Given the description of an element on the screen output the (x, y) to click on. 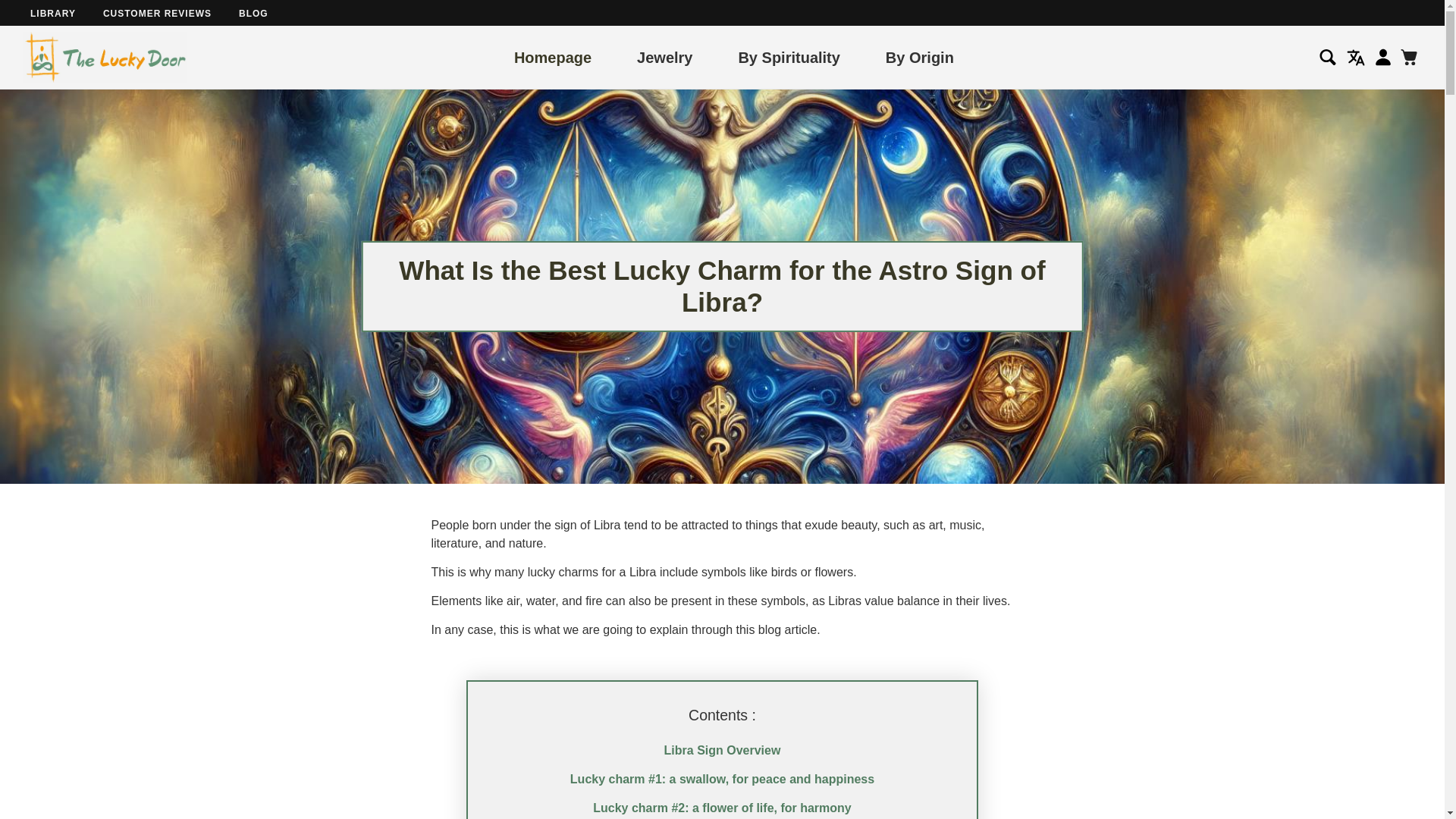
Jewelry (664, 56)
LIBRARY (52, 13)
By Spirituality (788, 56)
Homepage (552, 56)
By Origin (918, 56)
Homepage (552, 56)
BLOG (252, 13)
CUSTOMER REVIEWS (157, 13)
